Given the description of an element on the screen output the (x, y) to click on. 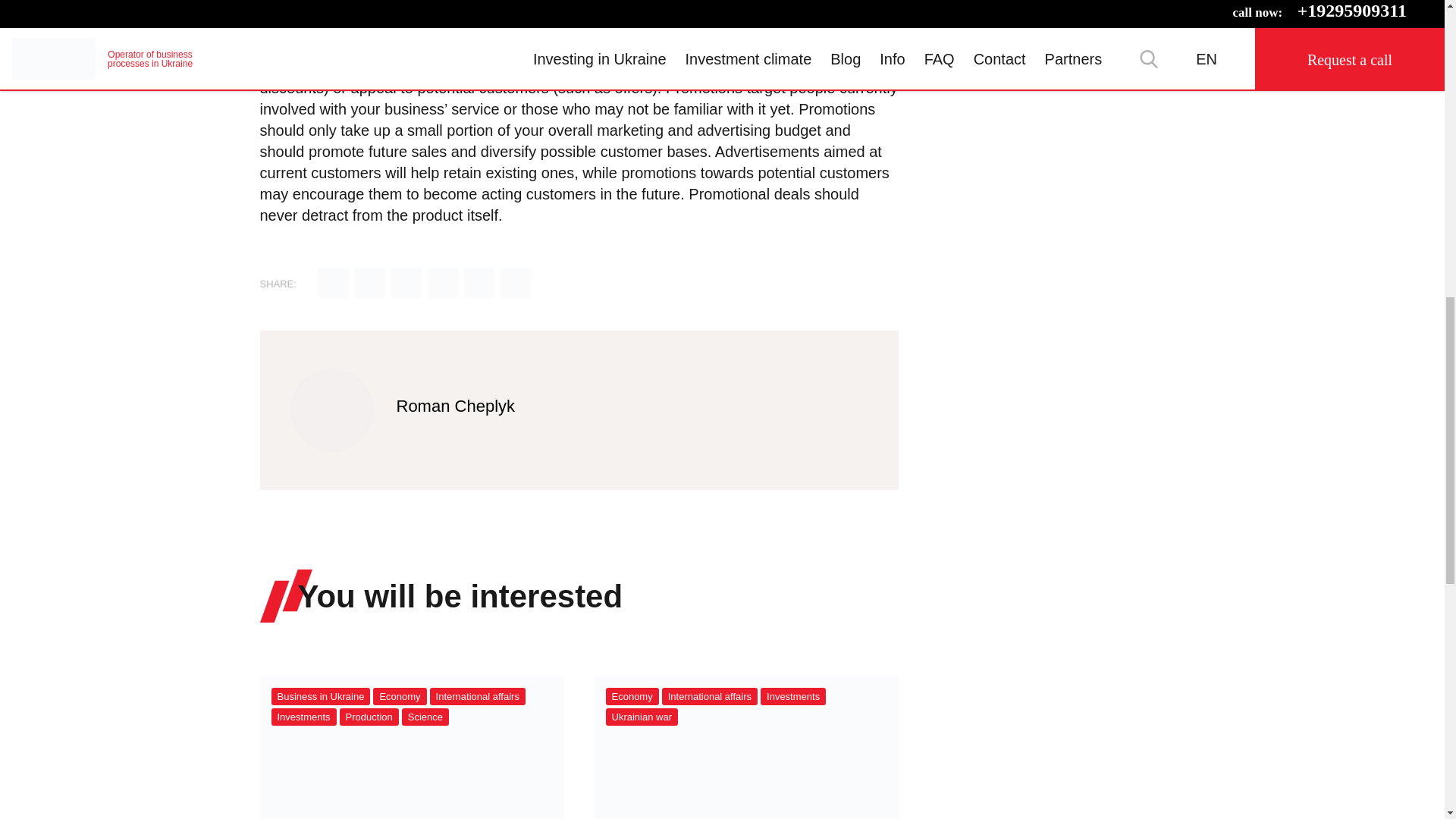
Production (368, 716)
WhatsApp (515, 283)
Telegram (443, 283)
Viber (479, 283)
Science (424, 716)
Email (333, 283)
Business in Ukraine (320, 696)
Facebook (406, 283)
International affairs (477, 696)
Twitter (370, 283)
